Given the description of an element on the screen output the (x, y) to click on. 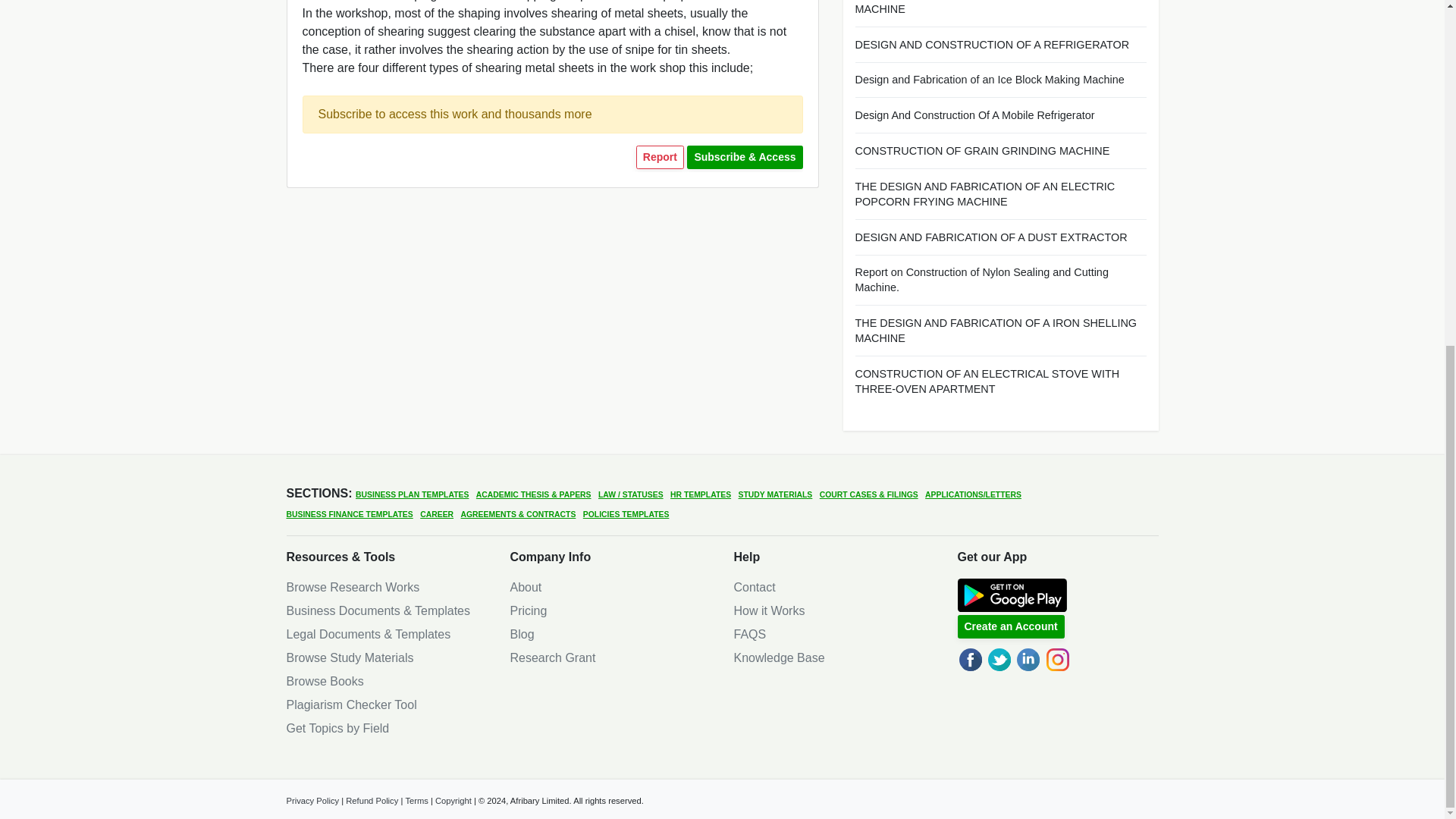
Facebook (969, 659)
Report (660, 156)
Twitter (999, 659)
DESIGN AND CONSTRUCTION OF A REFRIGERATOR (1001, 44)
LinkedIn (1027, 659)
Afribary Android App (1010, 594)
Instagram (1057, 659)
